Given the description of an element on the screen output the (x, y) to click on. 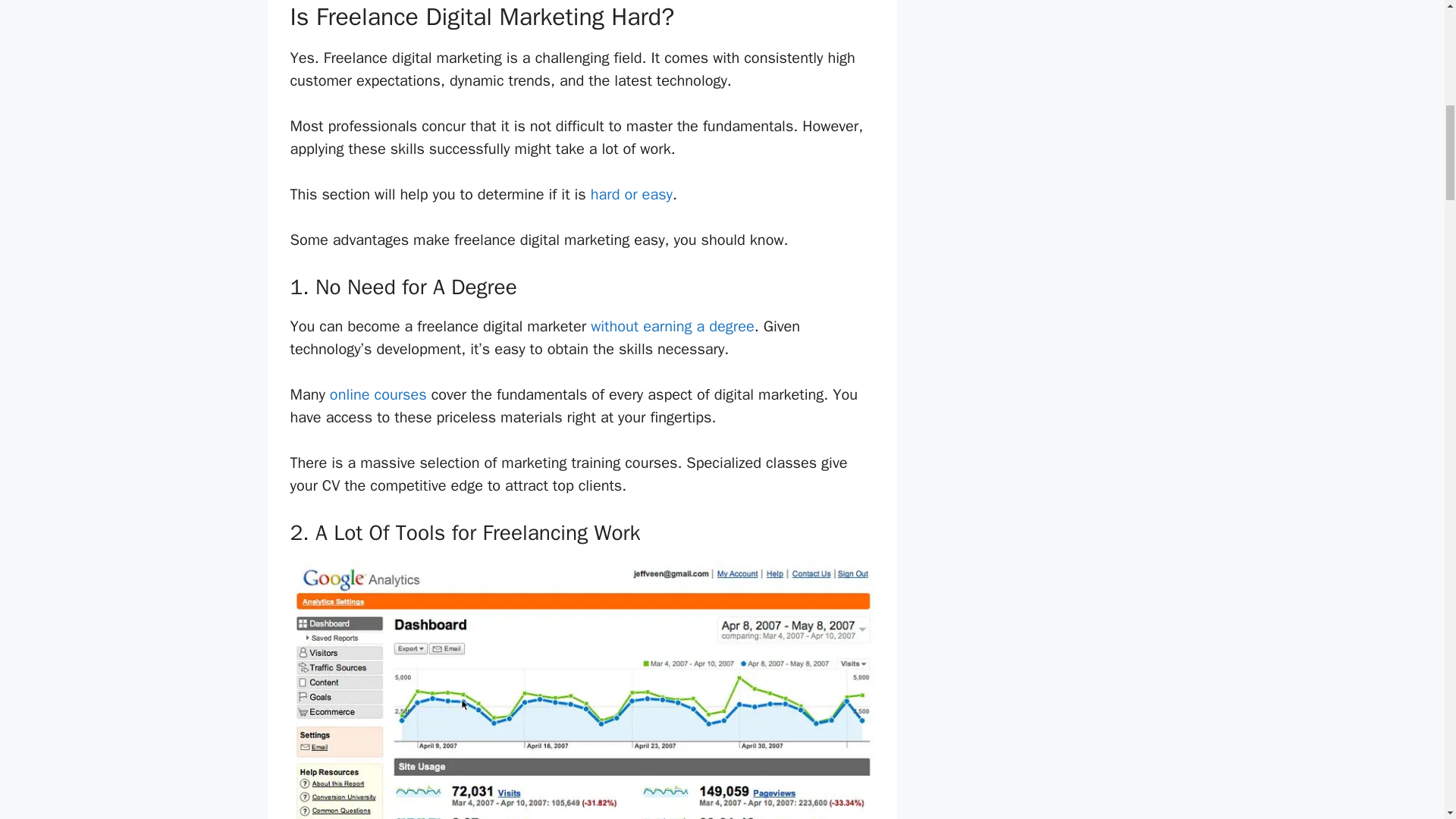
online courses (378, 394)
without earning a degree (672, 325)
hard or easy (631, 194)
Scroll back to top (1406, 720)
